Given the description of an element on the screen output the (x, y) to click on. 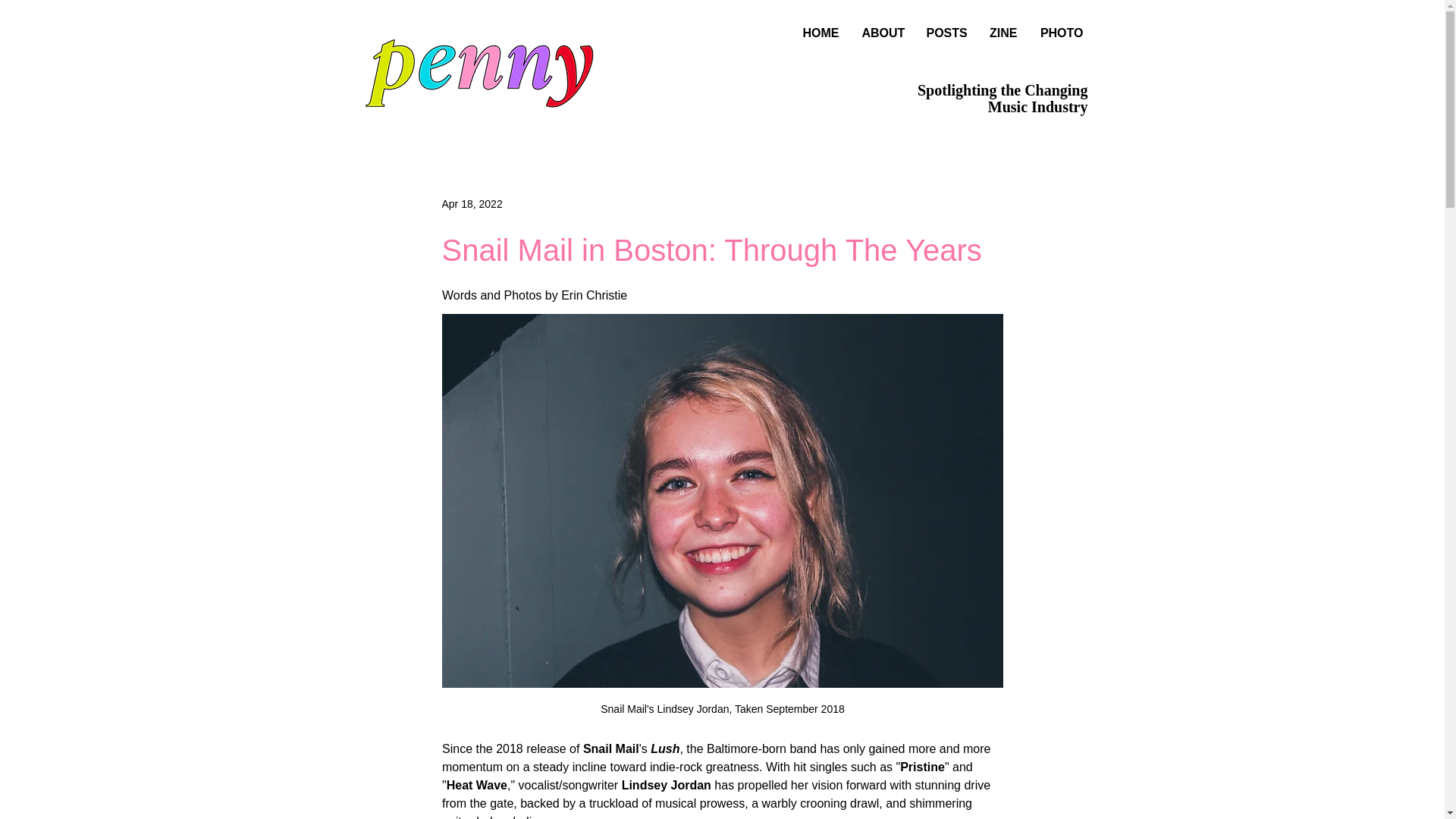
ABOUT (882, 33)
HOME (820, 33)
POSTS (945, 33)
PHOTO (1060, 33)
Apr 18, 2022 (471, 203)
